Given the description of an element on the screen output the (x, y) to click on. 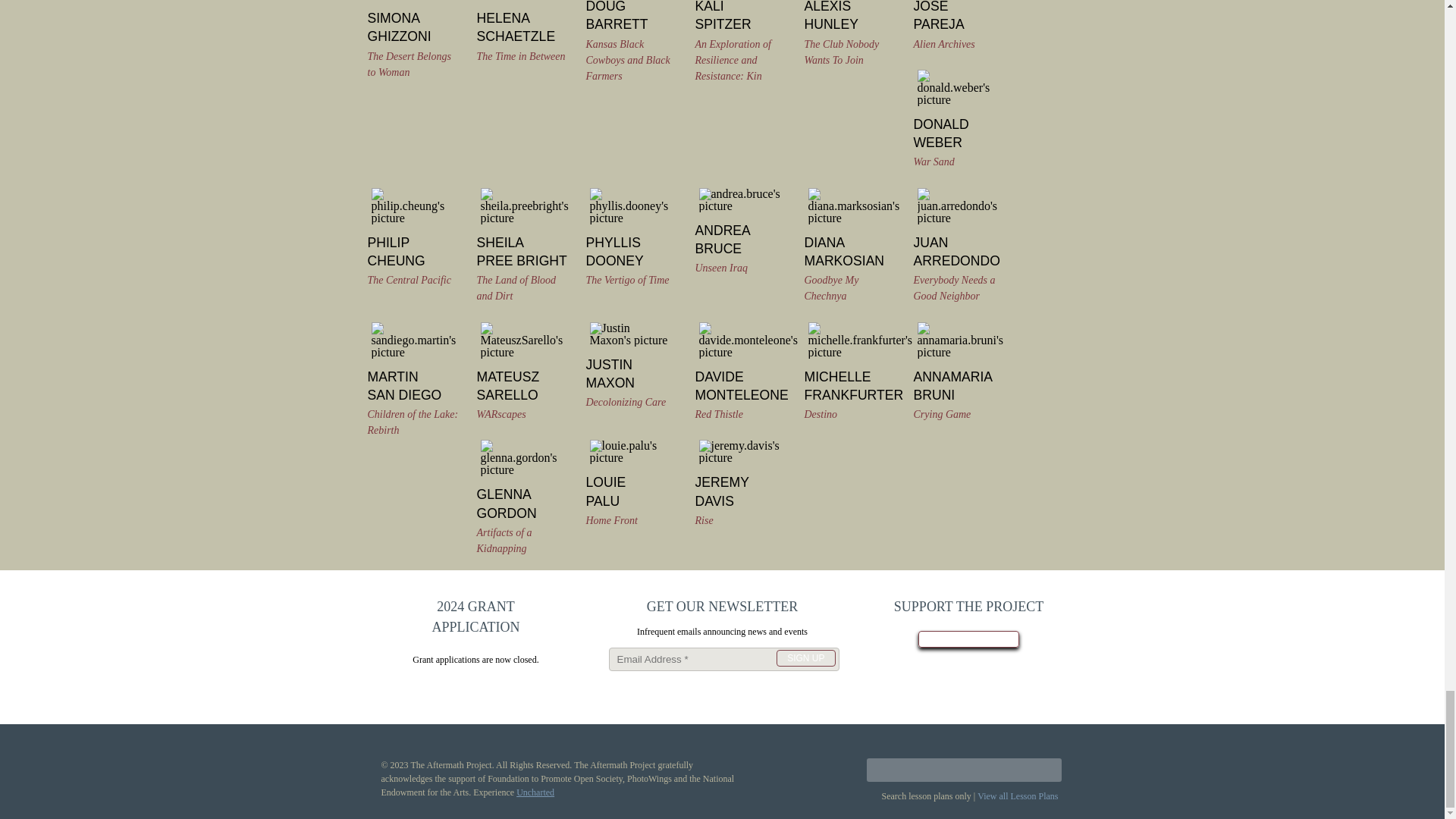
Sign Up (805, 658)
Enter the terms you wish to search for. (963, 770)
Search (1045, 769)
